Given the description of an element on the screen output the (x, y) to click on. 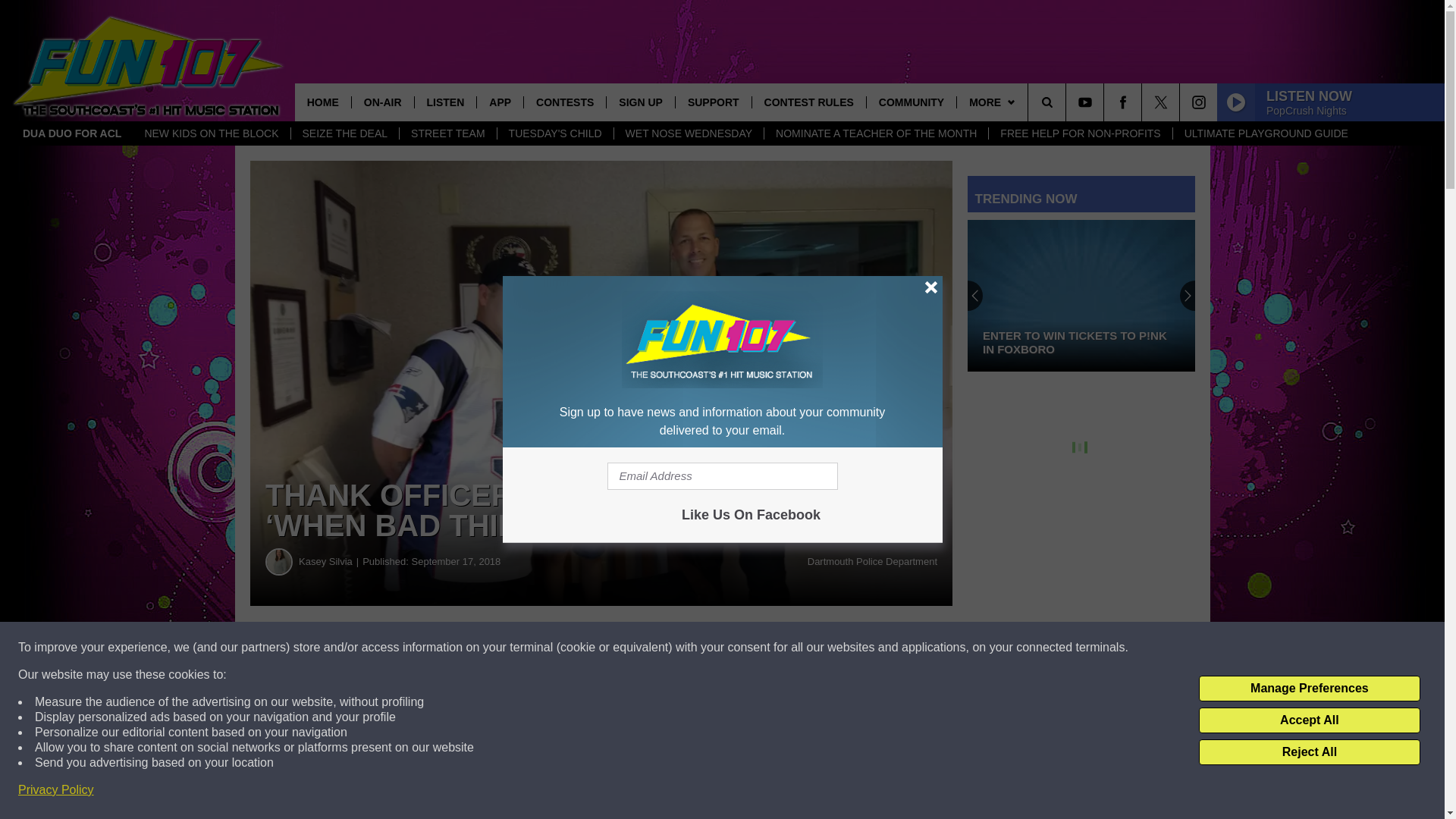
Privacy Policy (55, 789)
STREET TEAM (447, 133)
Share on Twitter (741, 647)
Share on Facebook (460, 647)
HOME (322, 102)
Reject All (1309, 751)
Manage Preferences (1309, 688)
DUA DUO FOR ACL (71, 133)
SEARCH (1068, 102)
APP (499, 102)
SEIZE THE DEAL (343, 133)
NOMINATE A TEACHER OF THE MONTH (875, 133)
LISTEN (445, 102)
TUESDAY'S CHILD (554, 133)
WET NOSE WEDNESDAY (688, 133)
